Given the description of an element on the screen output the (x, y) to click on. 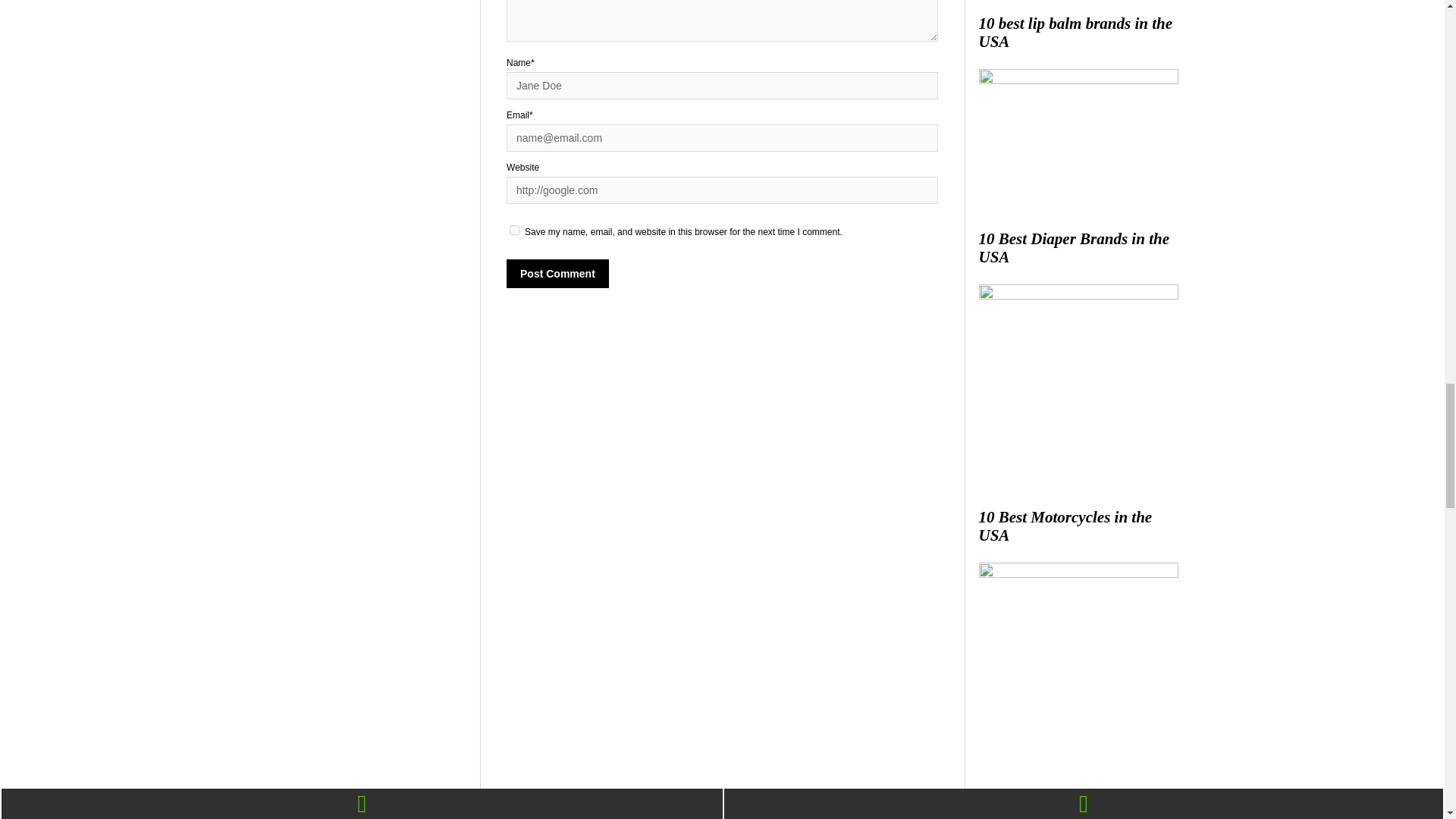
Post Comment (557, 273)
yes (514, 230)
